Given the description of an element on the screen output the (x, y) to click on. 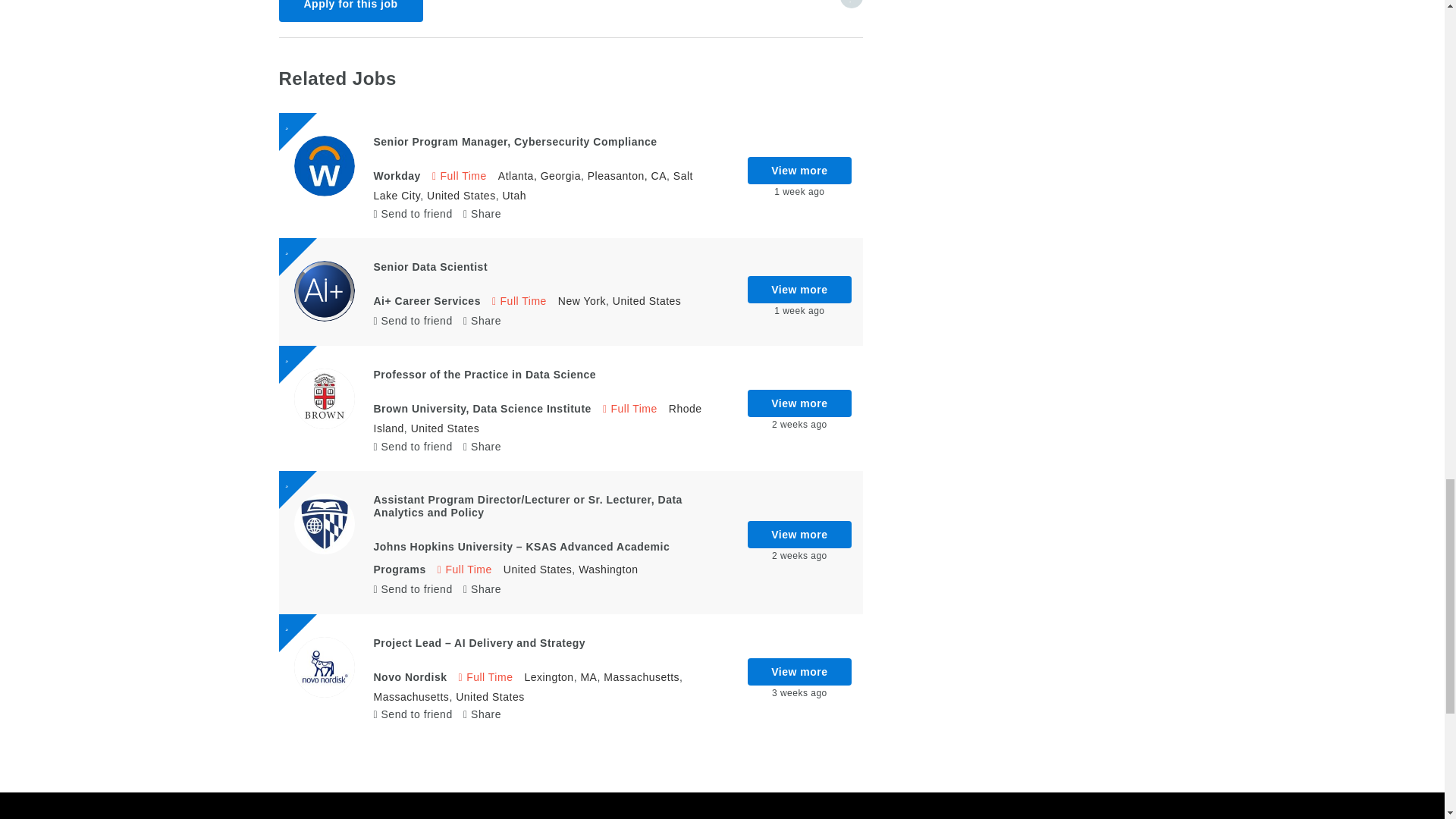
Workday (396, 175)
Apply for this job (351, 11)
Senior Program Manager, Cybersecurity Compliance (514, 141)
